Given the description of an element on the screen output the (x, y) to click on. 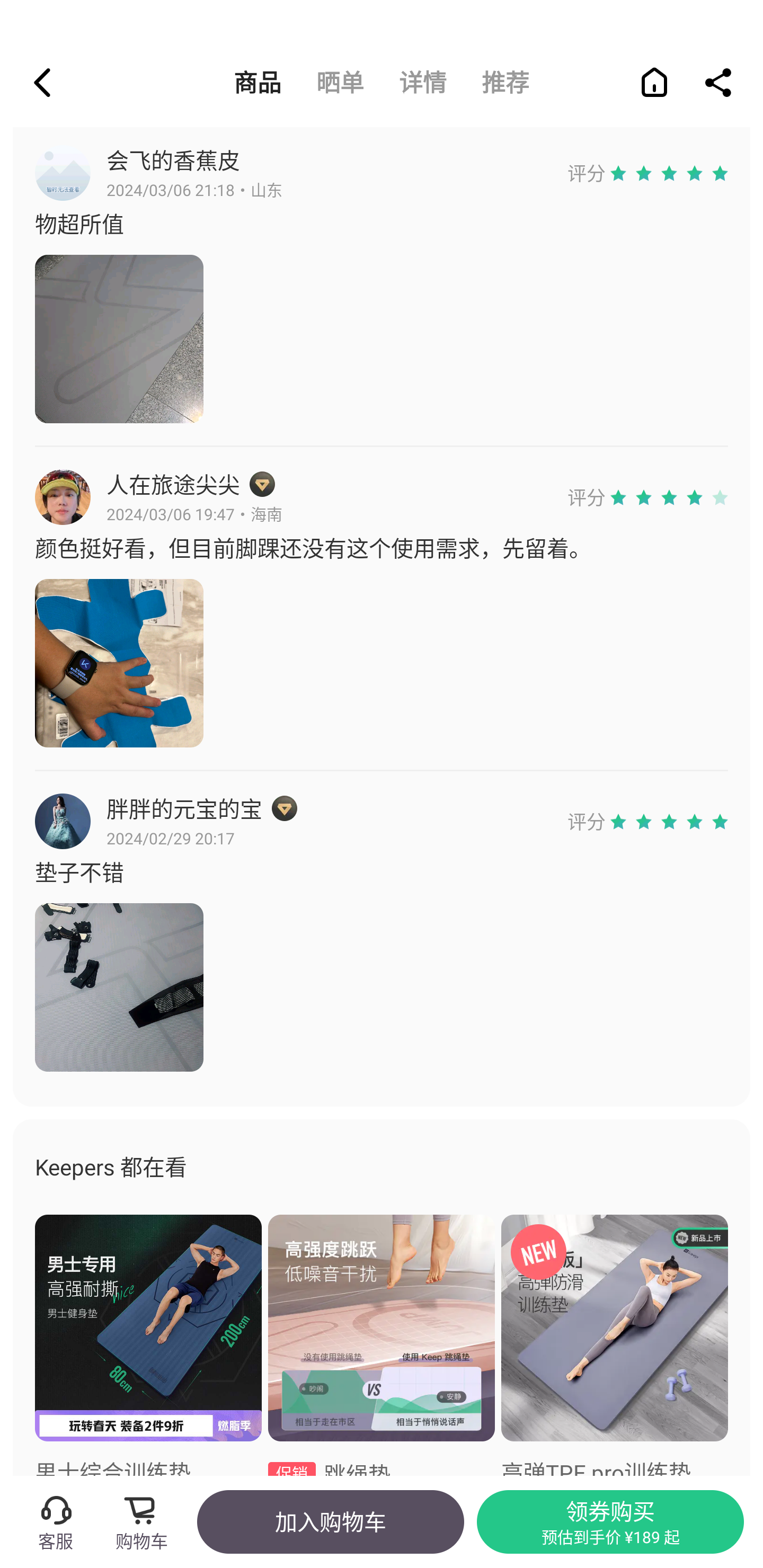
商品 (257, 82)
晒单 (340, 82)
详情 (422, 82)
推荐 (505, 82)
会飞的香蕉皮 2024/03/06 21:18・山东 评分 物超所值 (381, 283)
胖胖的元宝的宝 2024/02/29 20:17 评分 垫子不错 (381, 932)
男士综合训练垫 (148, 1345)
跳绳垫 促销 (381, 1345)
高弹TPE pro训练垫 (614, 1345)
客服 (55, 1521)
购物车 (147, 1521)
加入购物车 (329, 1521)
领券购买 预估到手价 ¥189 起 (609, 1521)
